Given the description of an element on the screen output the (x, y) to click on. 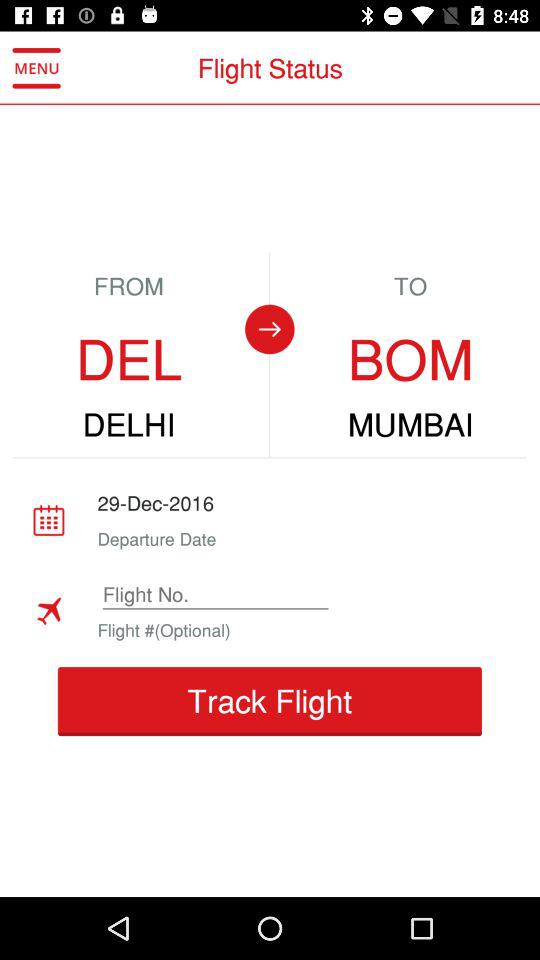
select the item to the left of bom item (269, 329)
